Given the description of an element on the screen output the (x, y) to click on. 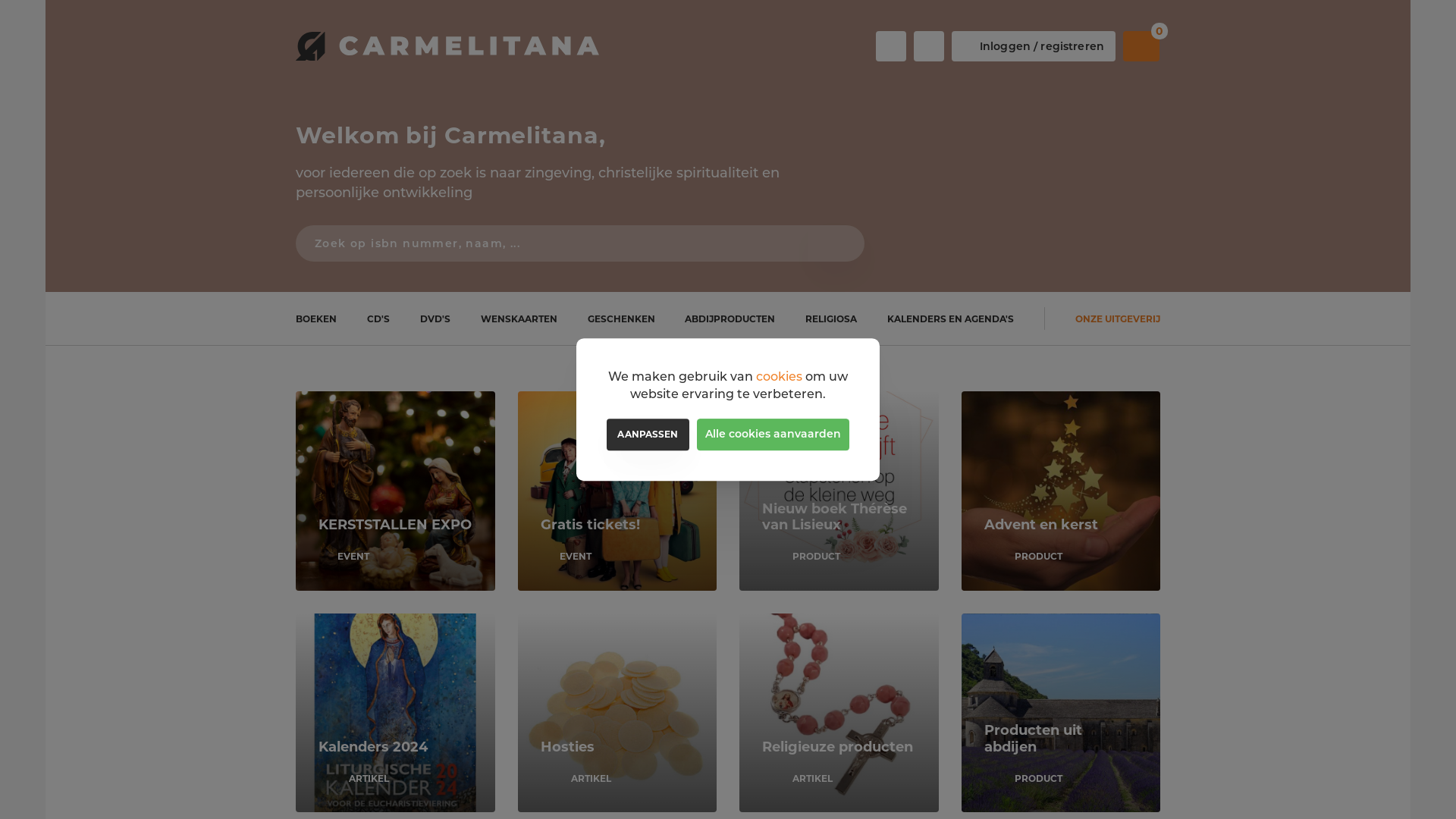
Volg Carmelitana op Instagram! Element type: text (928, 46)
Religieuze producten
ARTIKEL Element type: text (838, 712)
0 Element type: text (1141, 46)
ABDIJPRODUCTEN Element type: text (729, 318)
Volg Carmelitana op Facebook! Element type: text (890, 46)
GESCHENKEN Element type: text (621, 318)
Alle cookies aanvaarden Element type: text (772, 434)
KERSTSTALLEN EXPO
EVENT Element type: text (395, 490)
ONZE UITGEVERIJ Element type: text (1117, 318)
RELIGIOSA Element type: text (830, 318)
DVD'S Element type: text (434, 318)
Hosties
ARTIKEL Element type: text (616, 712)
Kalenders 2024
ARTIKEL Element type: text (395, 712)
WENSKAARTEN Element type: text (518, 318)
BOEKEN Element type: text (316, 318)
Gratis tickets!
EVENT Element type: text (616, 490)
CD'S Element type: text (378, 318)
Producten uit abdijen
PRODUCT Element type: text (1061, 712)
Advent en kerst
PRODUCT Element type: text (1061, 490)
KALENDERS EN AGENDA'S Element type: text (950, 318)
AANPASSEN Element type: text (647, 434)
cookies Element type: text (779, 376)
Inloggen / registreren Element type: text (1033, 46)
